Given the description of an element on the screen output the (x, y) to click on. 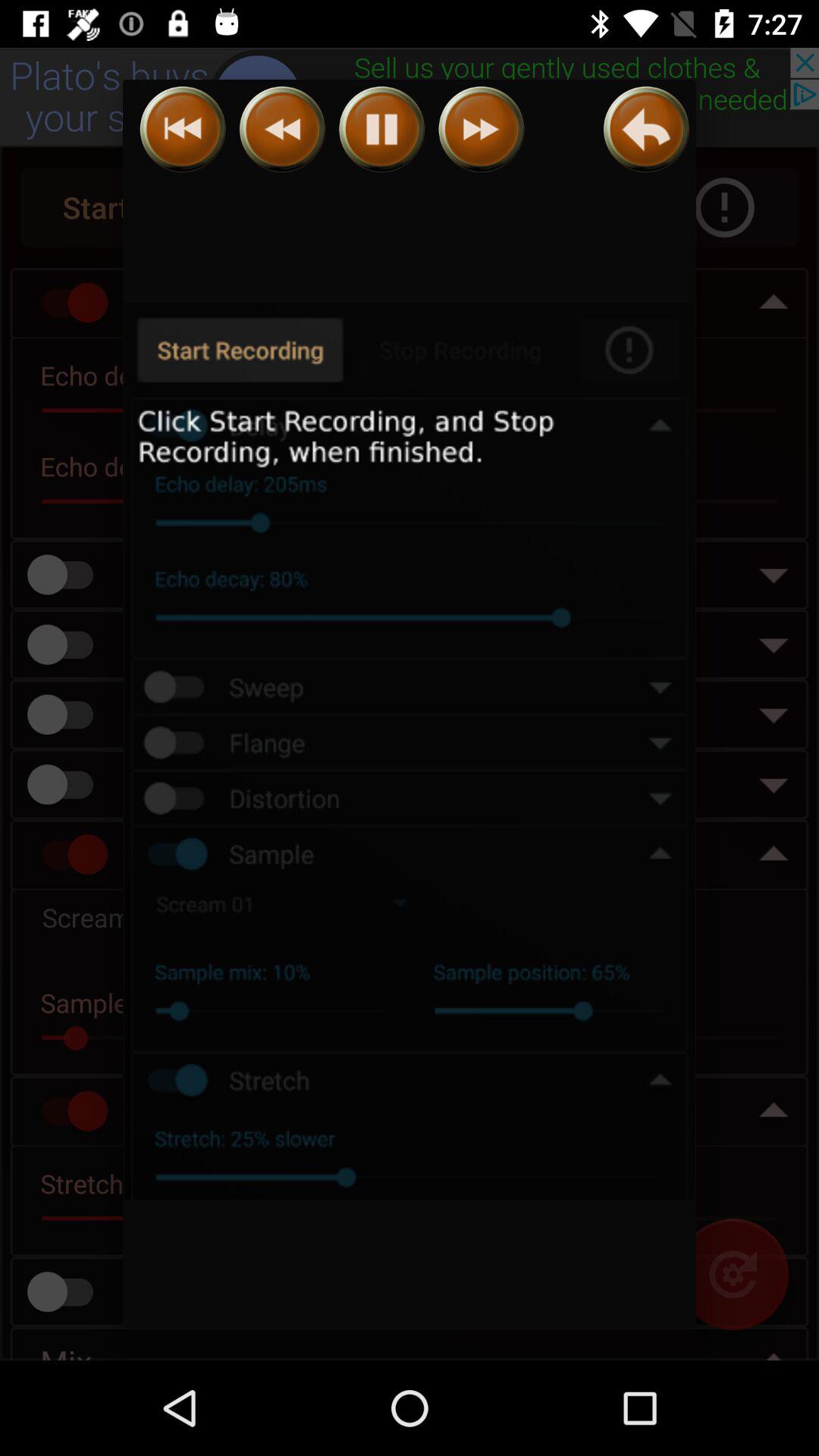
previews button (282, 129)
